Given the description of an element on the screen output the (x, y) to click on. 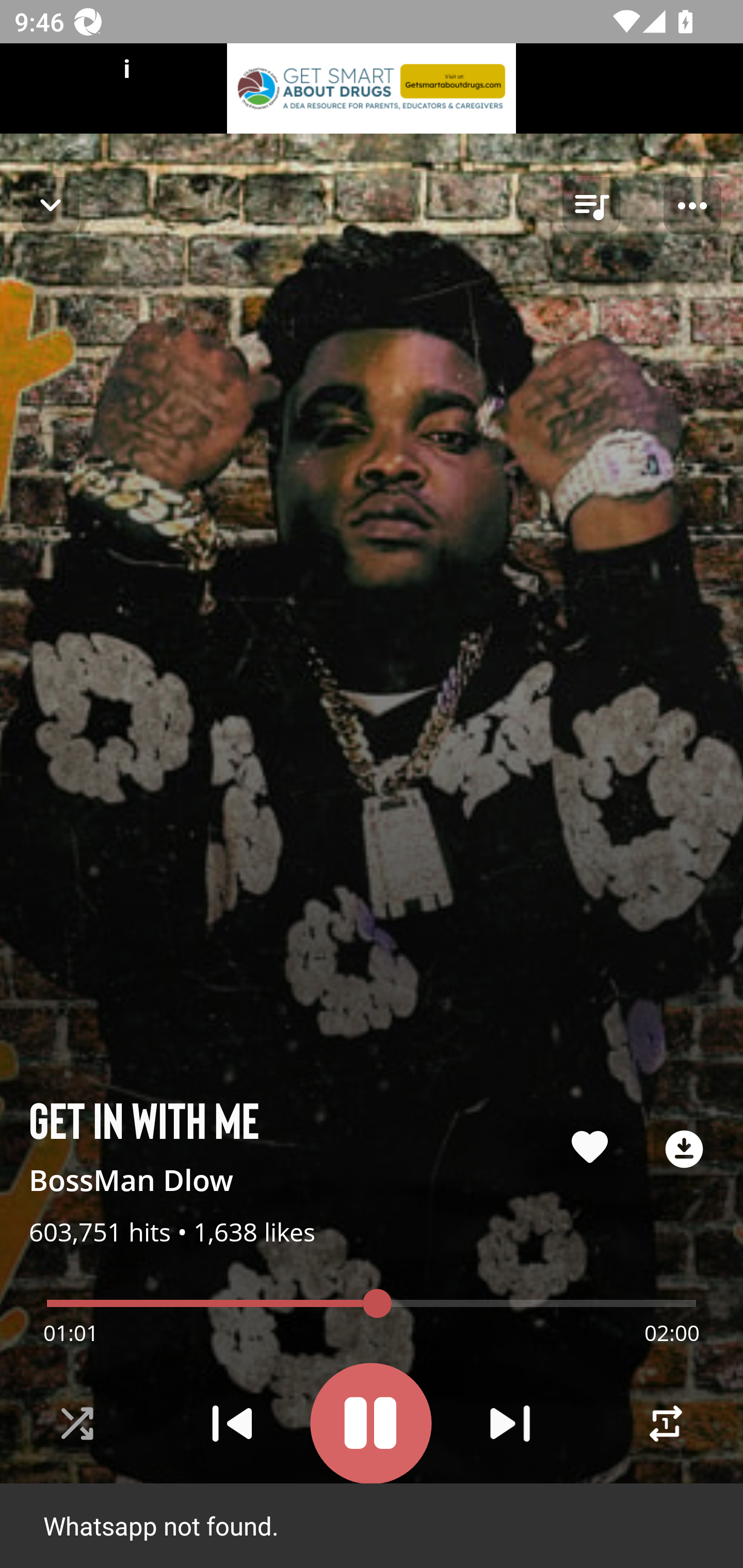
Navigate up (50, 205)
queue (590, 206)
Player options (692, 206)
